Given the description of an element on the screen output the (x, y) to click on. 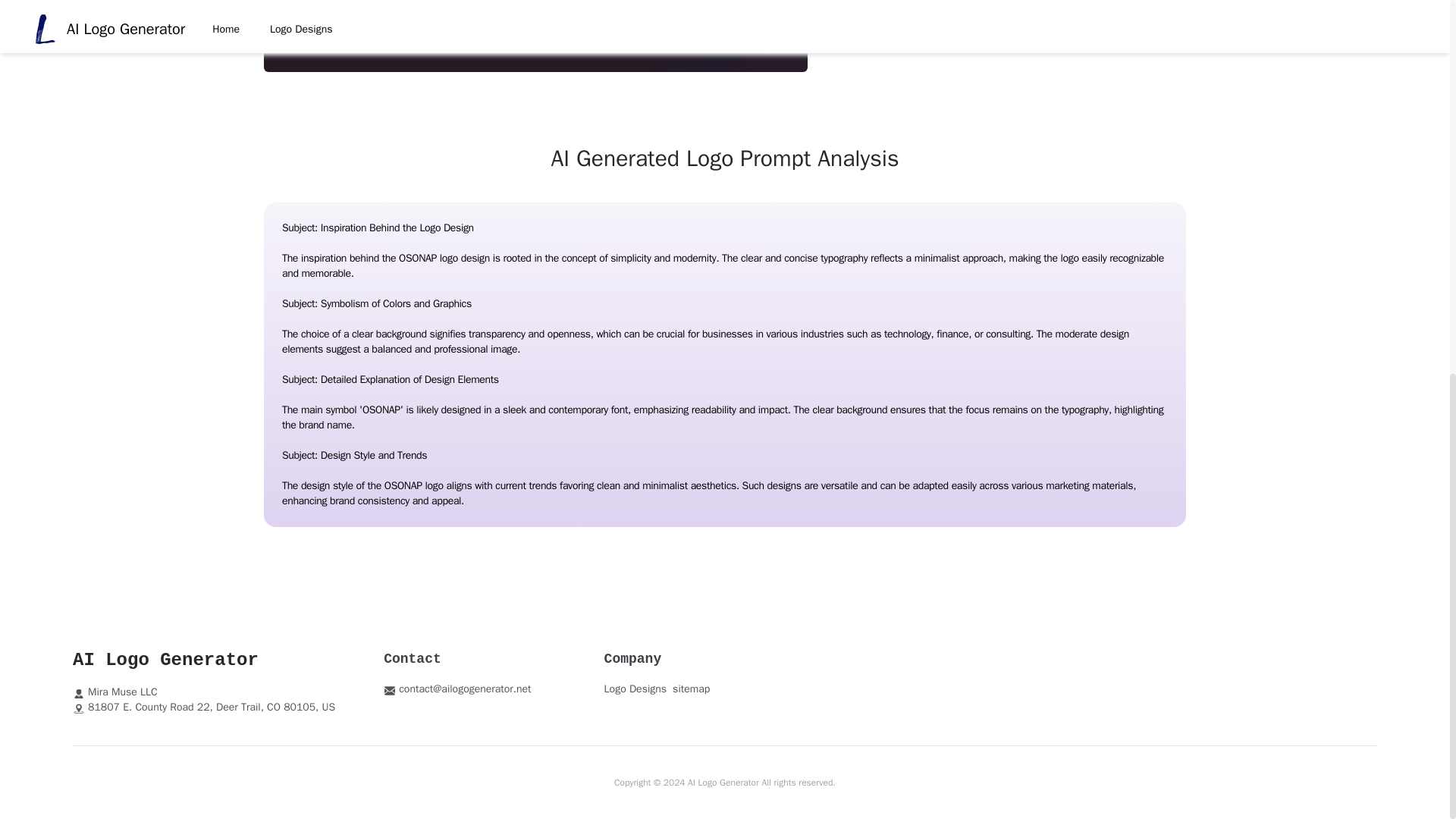
sitemap (691, 688)
Logo Designs (635, 688)
